Given the description of an element on the screen output the (x, y) to click on. 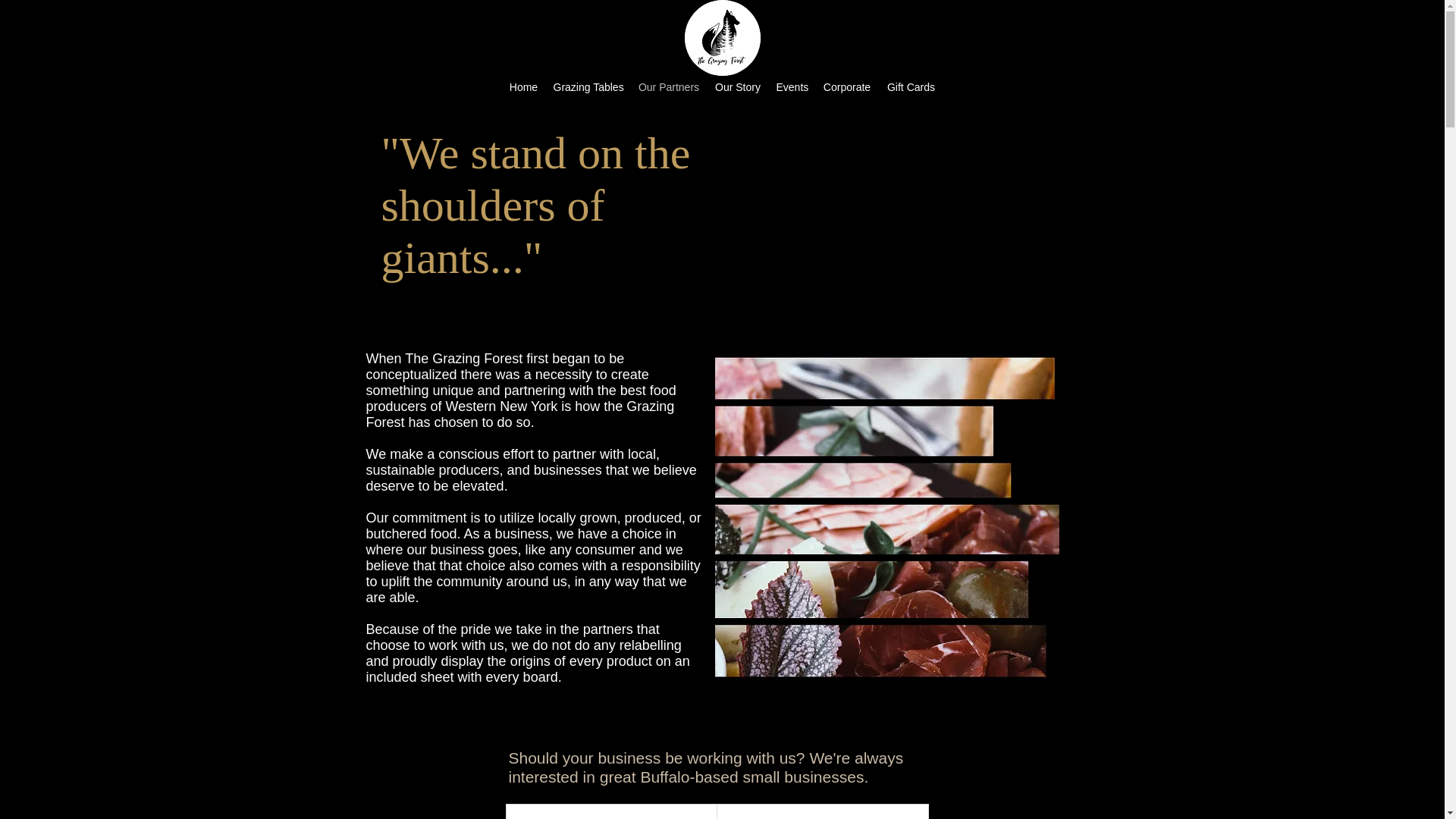
Corporate (846, 87)
Grazing Tables (588, 87)
Gift Cards (911, 87)
Events (791, 87)
Home (524, 87)
Our Story (737, 87)
Our Partners (668, 87)
